Given the description of an element on the screen output the (x, y) to click on. 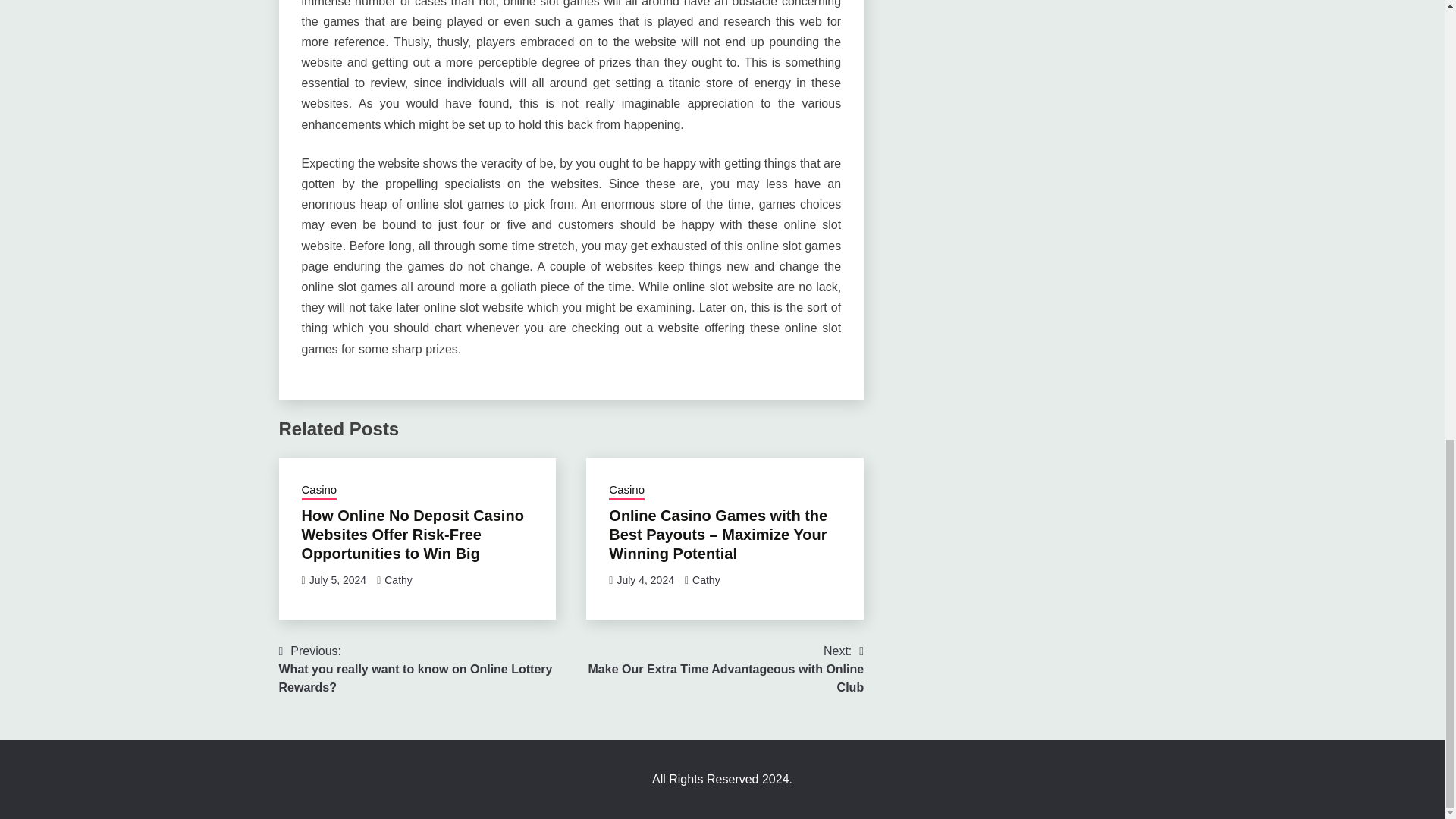
Casino (626, 490)
July 5, 2024 (337, 580)
July 4, 2024 (644, 580)
Cathy (706, 580)
Casino (319, 490)
Cathy (398, 580)
